Given the description of an element on the screen output the (x, y) to click on. 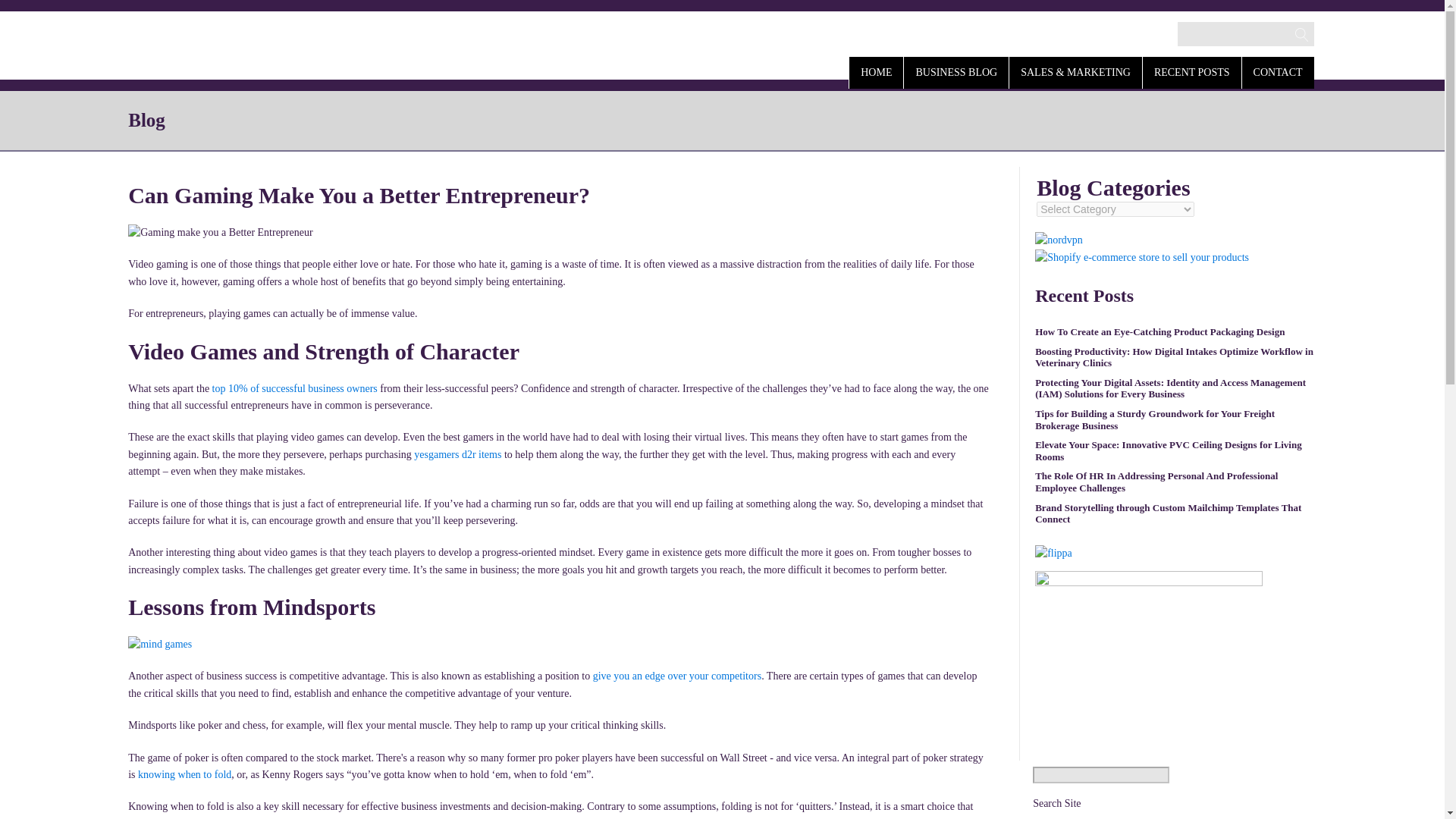
Search (27, 12)
BUSINESS BLOG (956, 71)
HOME (875, 71)
